Given the description of an element on the screen output the (x, y) to click on. 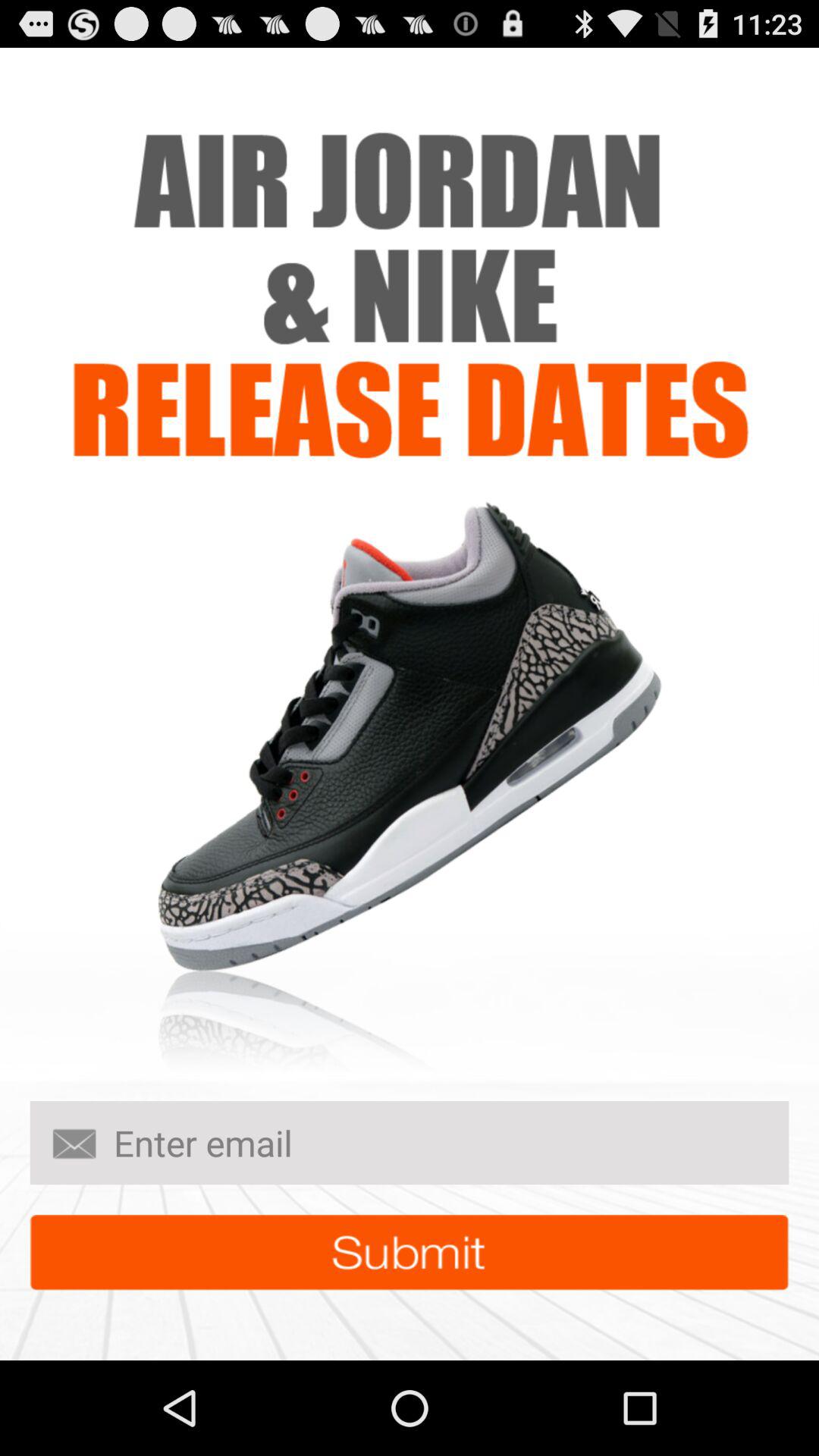
email the option (409, 1142)
